Given the description of an element on the screen output the (x, y) to click on. 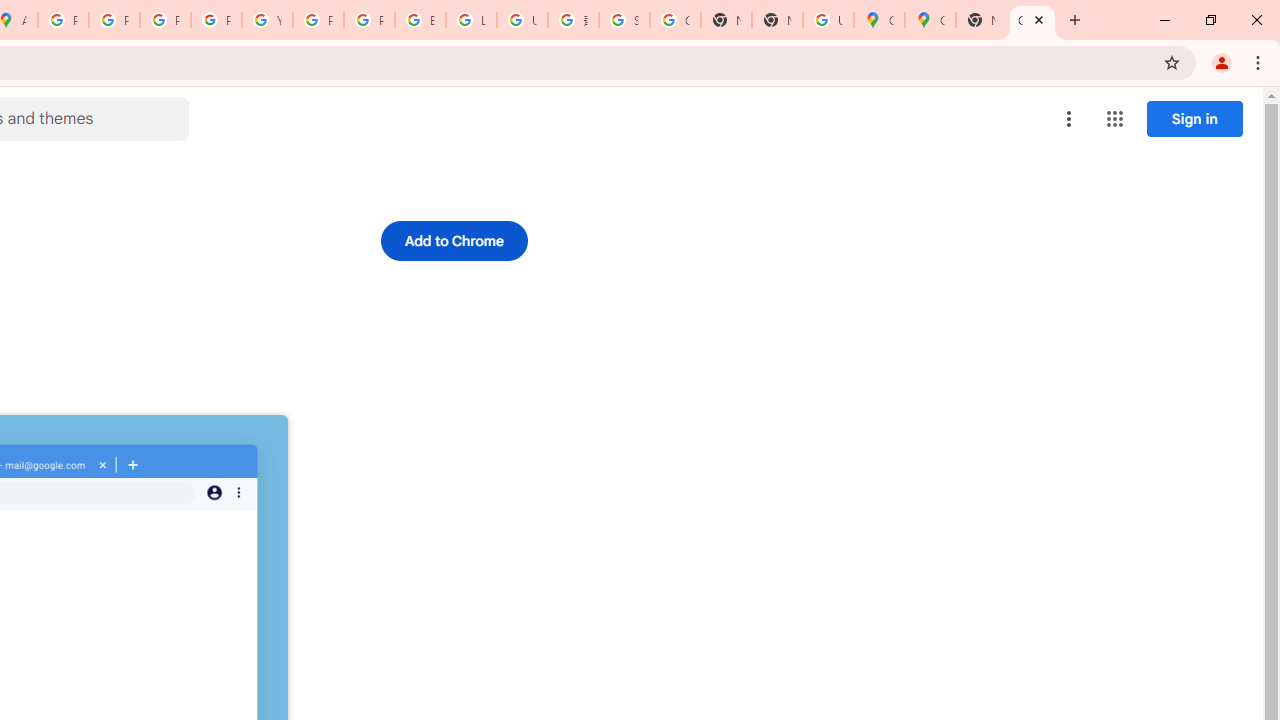
More options menu (1069, 118)
Sign in - Google Accounts (624, 20)
Add to Chrome (453, 240)
Policy Accountability and Transparency - Transparency Center (63, 20)
Privacy Help Center - Policies Help (113, 20)
New Tab (776, 20)
Google Maps (878, 20)
Use Google Maps in Space - Google Maps Help (827, 20)
